Given the description of an element on the screen output the (x, y) to click on. 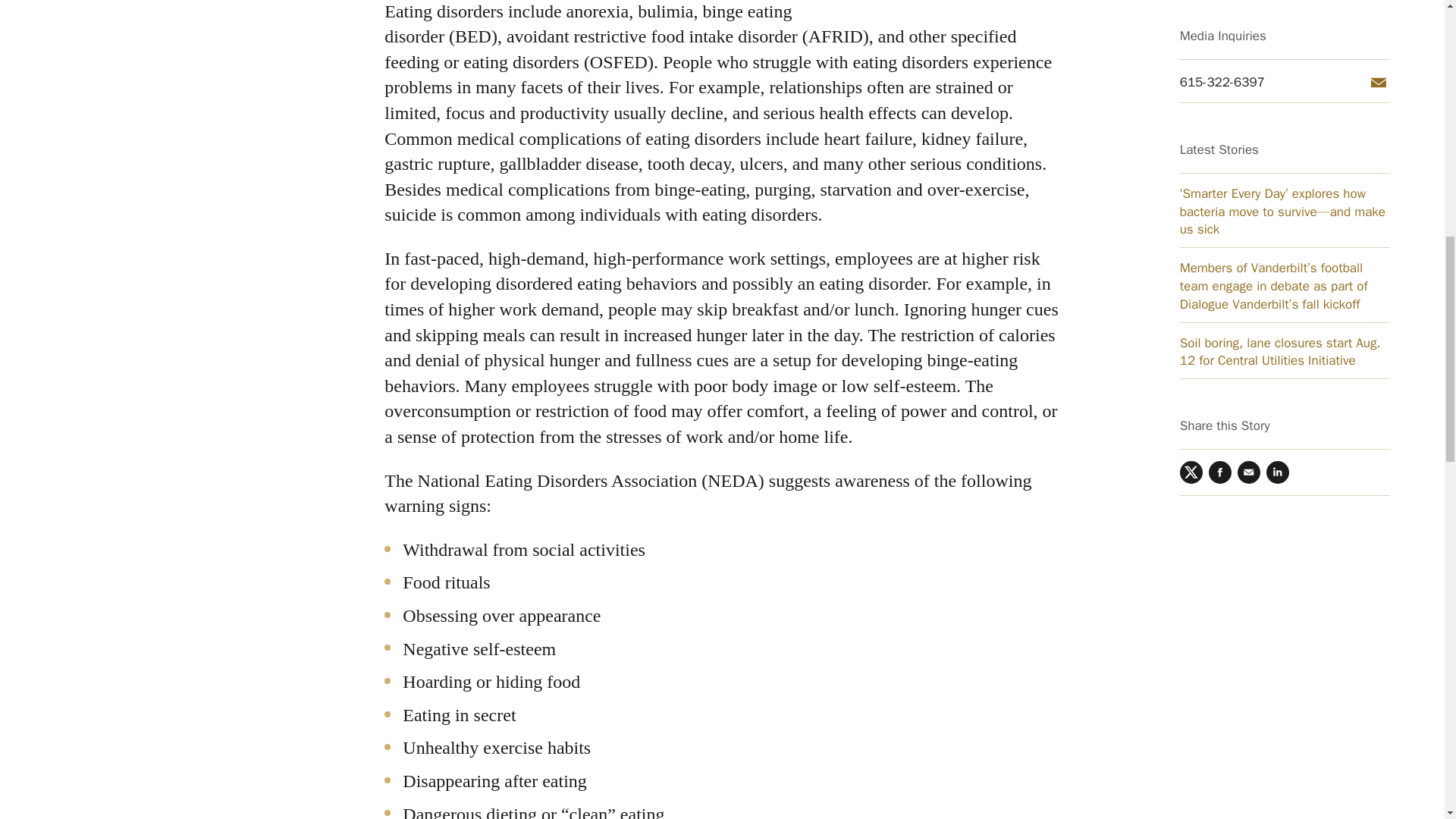
Facebook (1219, 105)
Email (1248, 105)
Twitter (1190, 105)
LinkedIn (1277, 105)
